Given the description of an element on the screen output the (x, y) to click on. 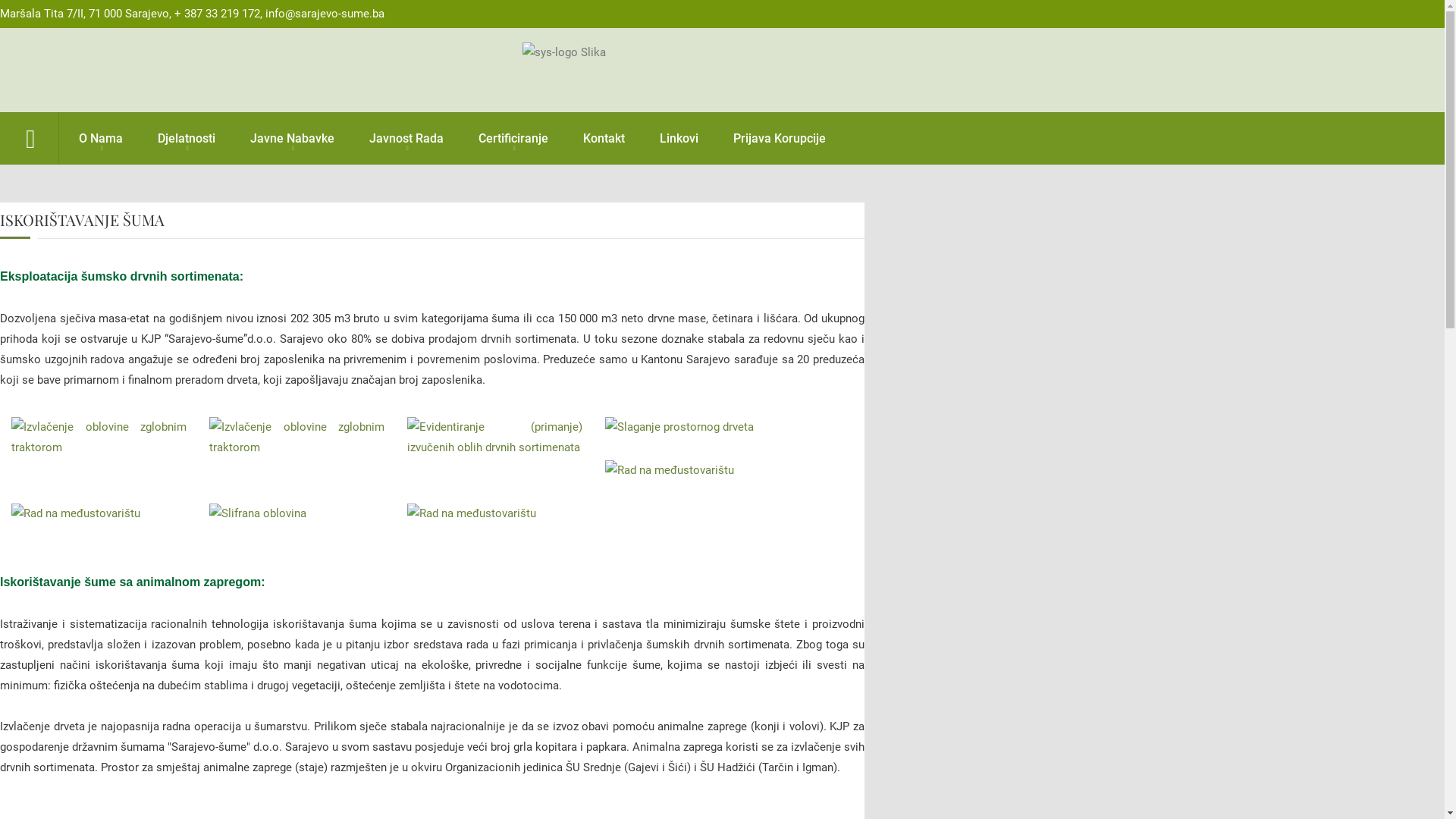
Djelatnosti Element type: text (186, 138)
Prijava Korupcije Element type: text (779, 138)
O Nama Element type: text (100, 138)
Slaganje prostornog drveta Element type: hover (679, 426)
Kontakt Element type: text (603, 138)
Javne Nabavke Element type: text (292, 138)
Slifrana oblovina Element type: hover (257, 513)
Certificiranje Element type: text (513, 138)
Javnost Rada Element type: text (406, 138)
Linkovi Element type: text (678, 138)
